Given the description of an element on the screen output the (x, y) to click on. 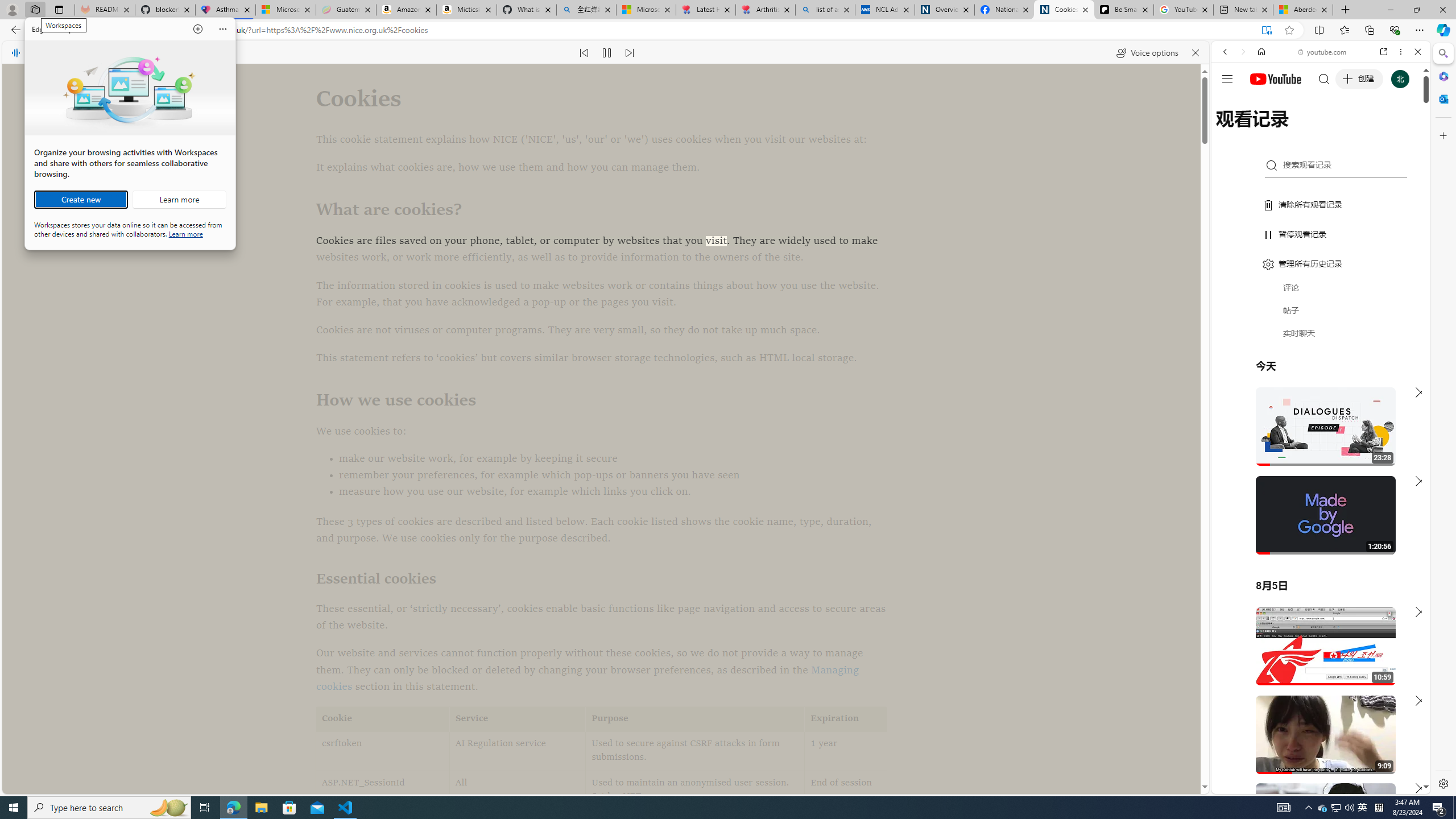
Arthritis: Ask Health Professionals (1362, 807)
ASP.NET_SessionId (765, 9)
Music (382, 790)
Google (1320, 309)
Be Smart | creating Science videos | Patreon (1320, 281)
Music (1123, 9)
Actions for this site (1320, 309)
AI Regulation service (1371, 661)
you (517, 751)
